Given the description of an element on the screen output the (x, y) to click on. 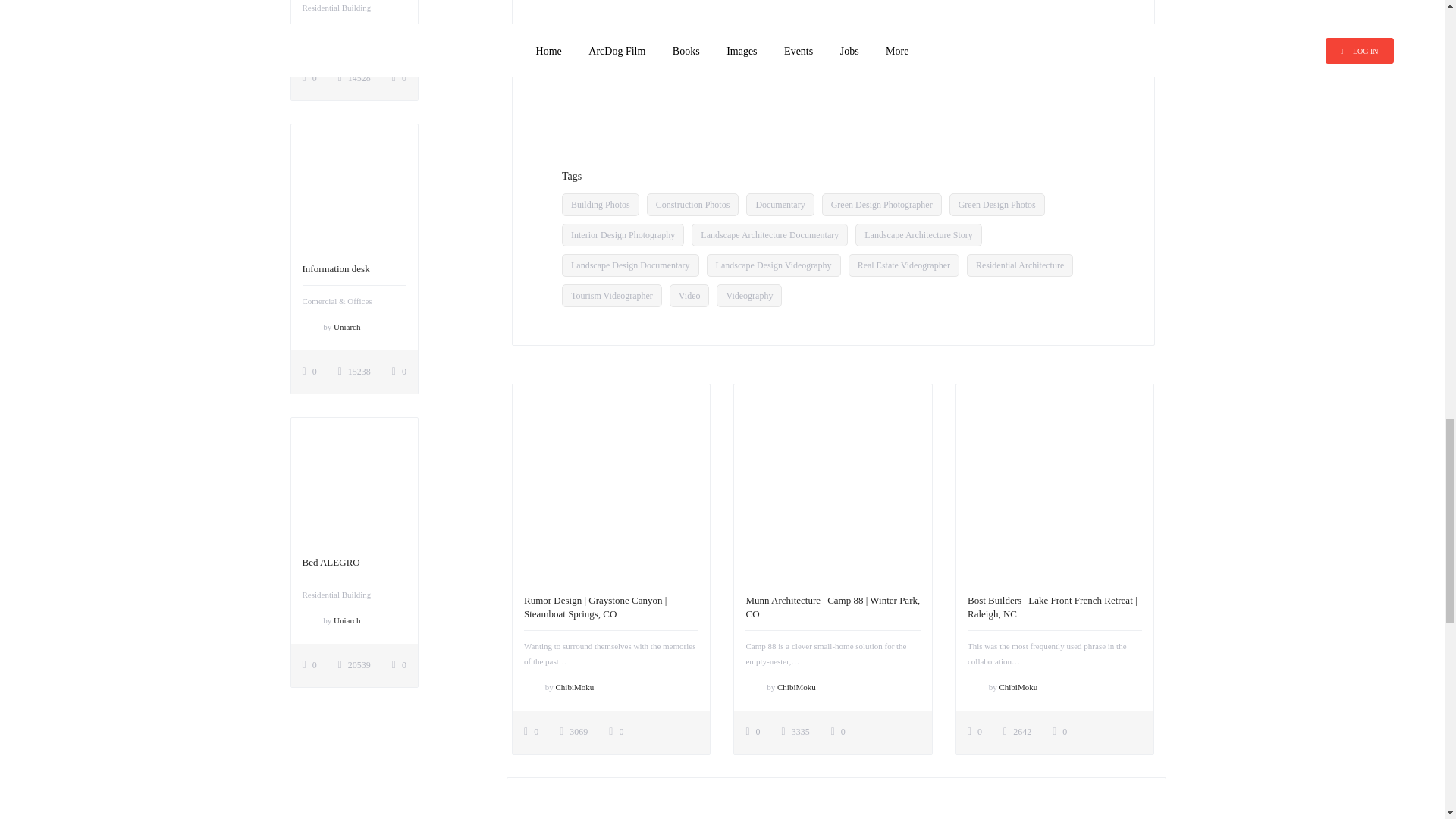
Landscape Design Documentary (630, 264)
Construction Photos (692, 204)
Documentary (779, 204)
Green Design Photos (997, 204)
Landscape Architecture Story (918, 234)
Videography (748, 295)
ChibiMoku (574, 686)
Green Design Photographer (882, 204)
Interior Design Photography (623, 234)
Real Estate Videographer (903, 264)
0 (615, 731)
Tourism Videographer (612, 295)
Residential Architecture (1019, 264)
Building Photos (600, 204)
Landscape Architecture Documentary (769, 234)
